Given the description of an element on the screen output the (x, y) to click on. 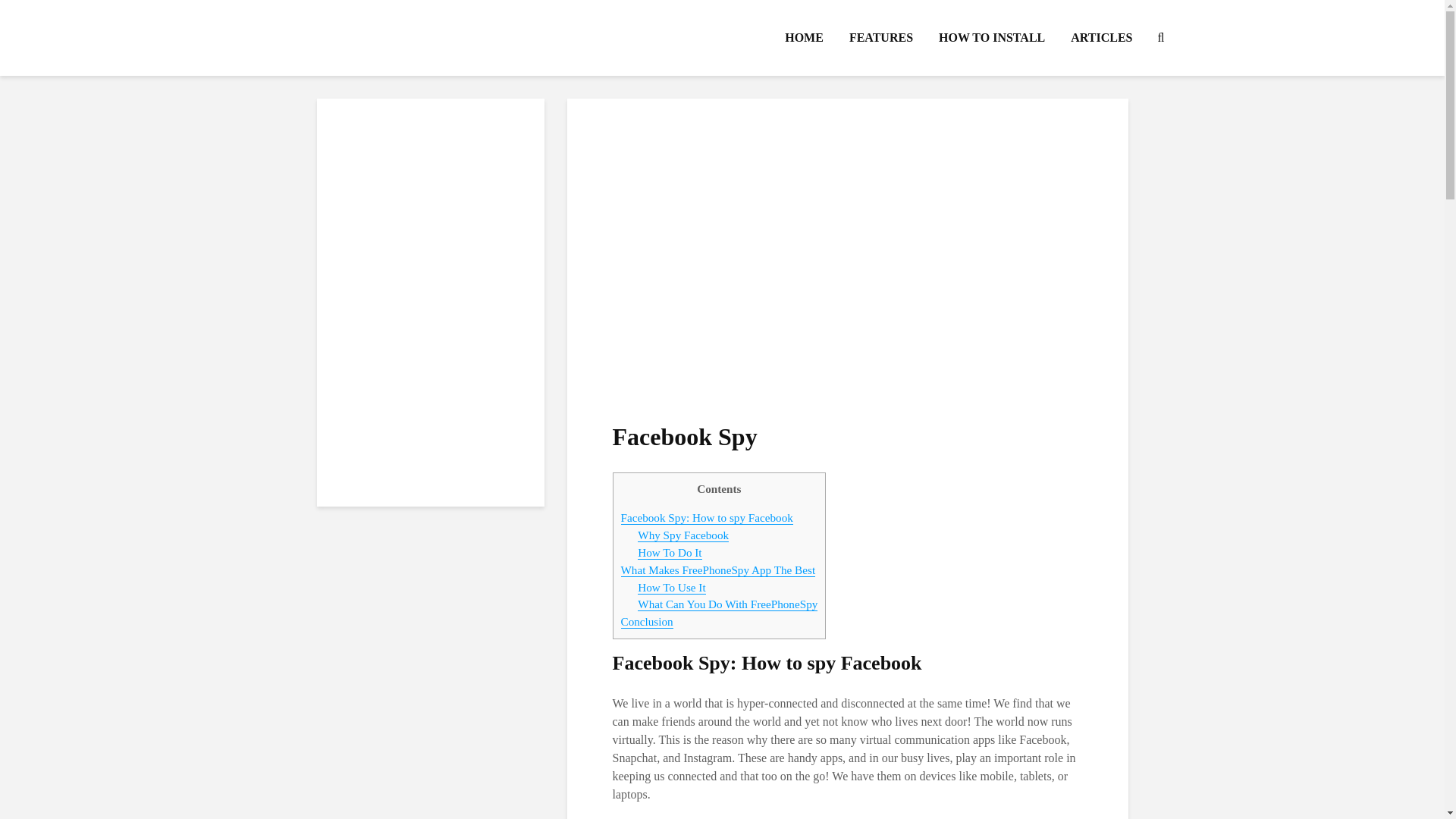
Free KeyLogger (430, 476)
Track Internet Browser History (430, 351)
Why Spy Facebook (683, 535)
HOW TO INSTALL (992, 37)
Conclusion (646, 621)
ARTICLES (1100, 37)
Free GPS Tracker (430, 196)
What Makes FreePhoneSpy App The Best (717, 570)
Free Spy Call (430, 258)
How To Do It (669, 552)
